Given the description of an element on the screen output the (x, y) to click on. 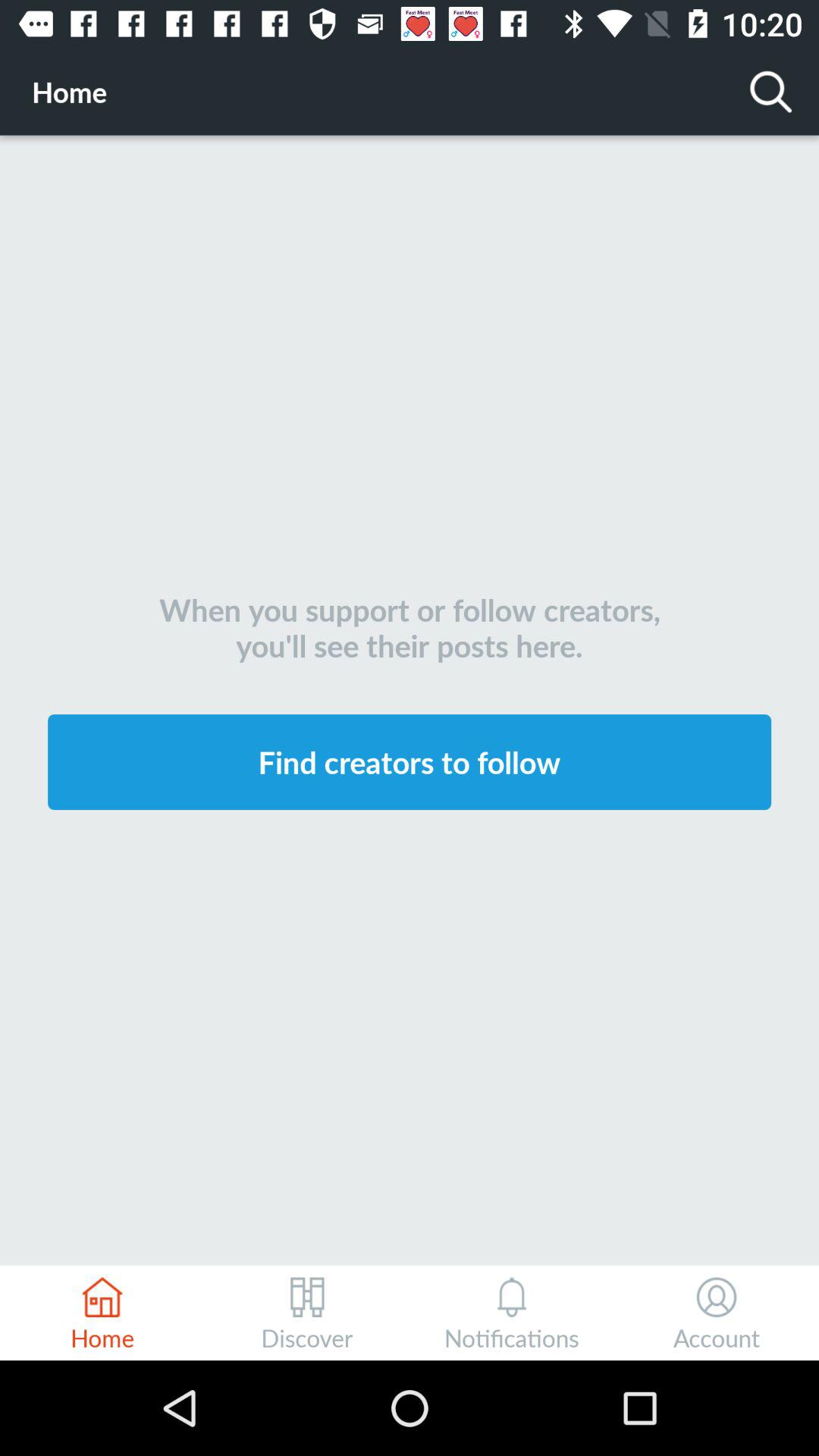
click item to the right of home (771, 91)
